Given the description of an element on the screen output the (x, y) to click on. 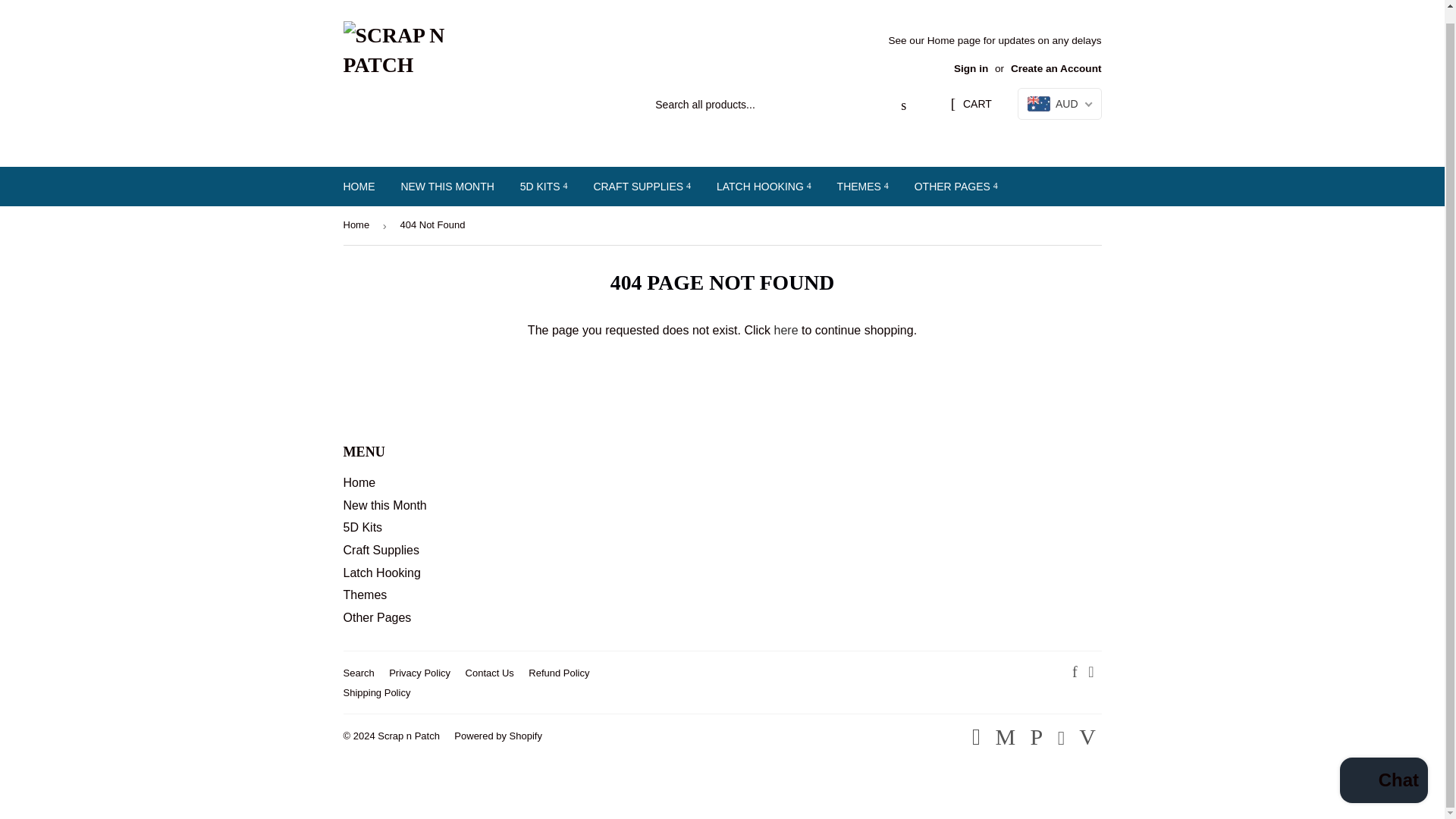
CART (971, 104)
Sign in (970, 68)
Search (903, 105)
Create an Account (1056, 68)
Shopify online store chat (1383, 768)
